Given the description of an element on the screen output the (x, y) to click on. 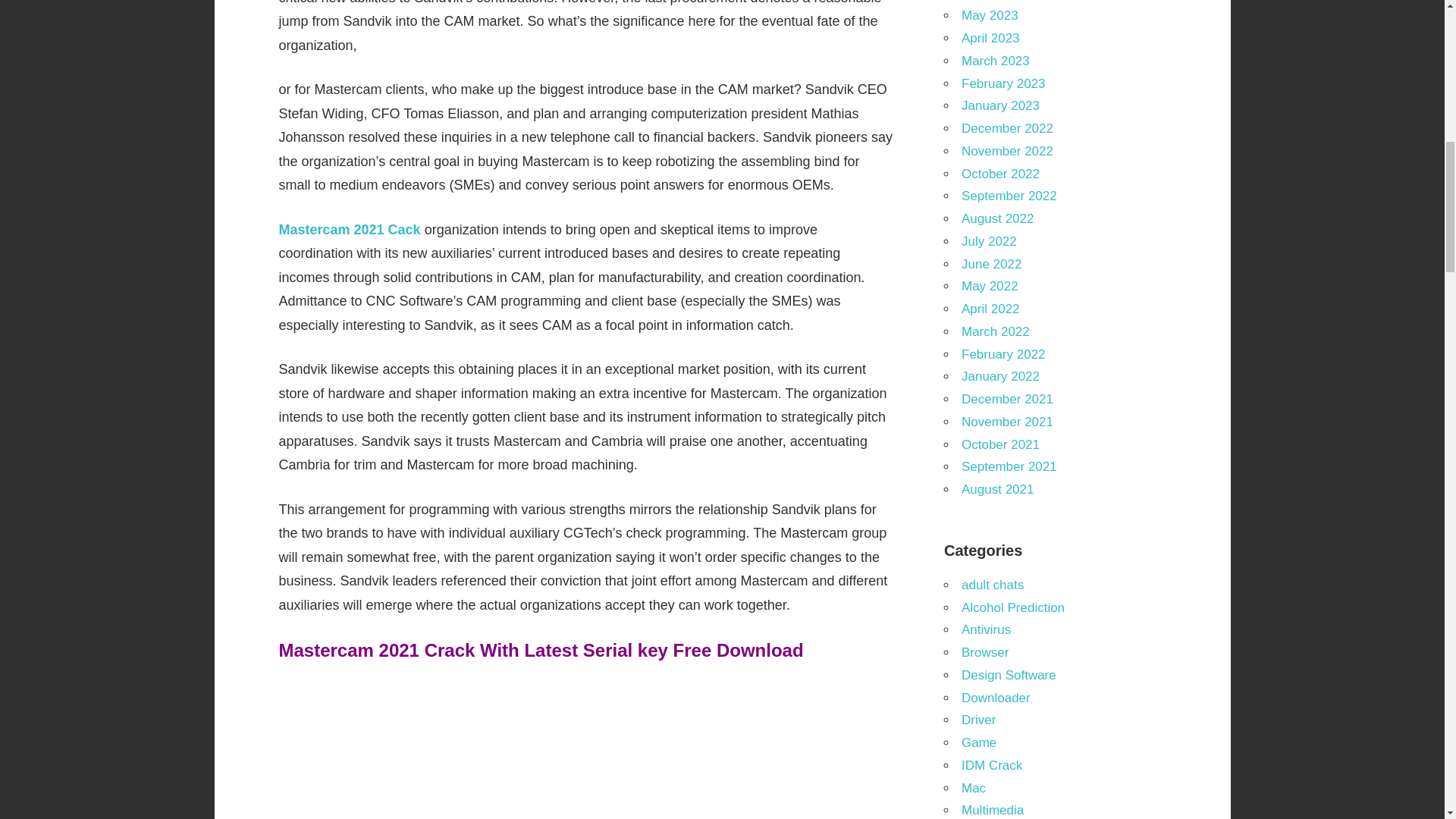
June 2023 (991, 0)
Mastercam 2021 Cack (349, 229)
April 2023 (990, 38)
May 2023 (988, 15)
